Given the description of an element on the screen output the (x, y) to click on. 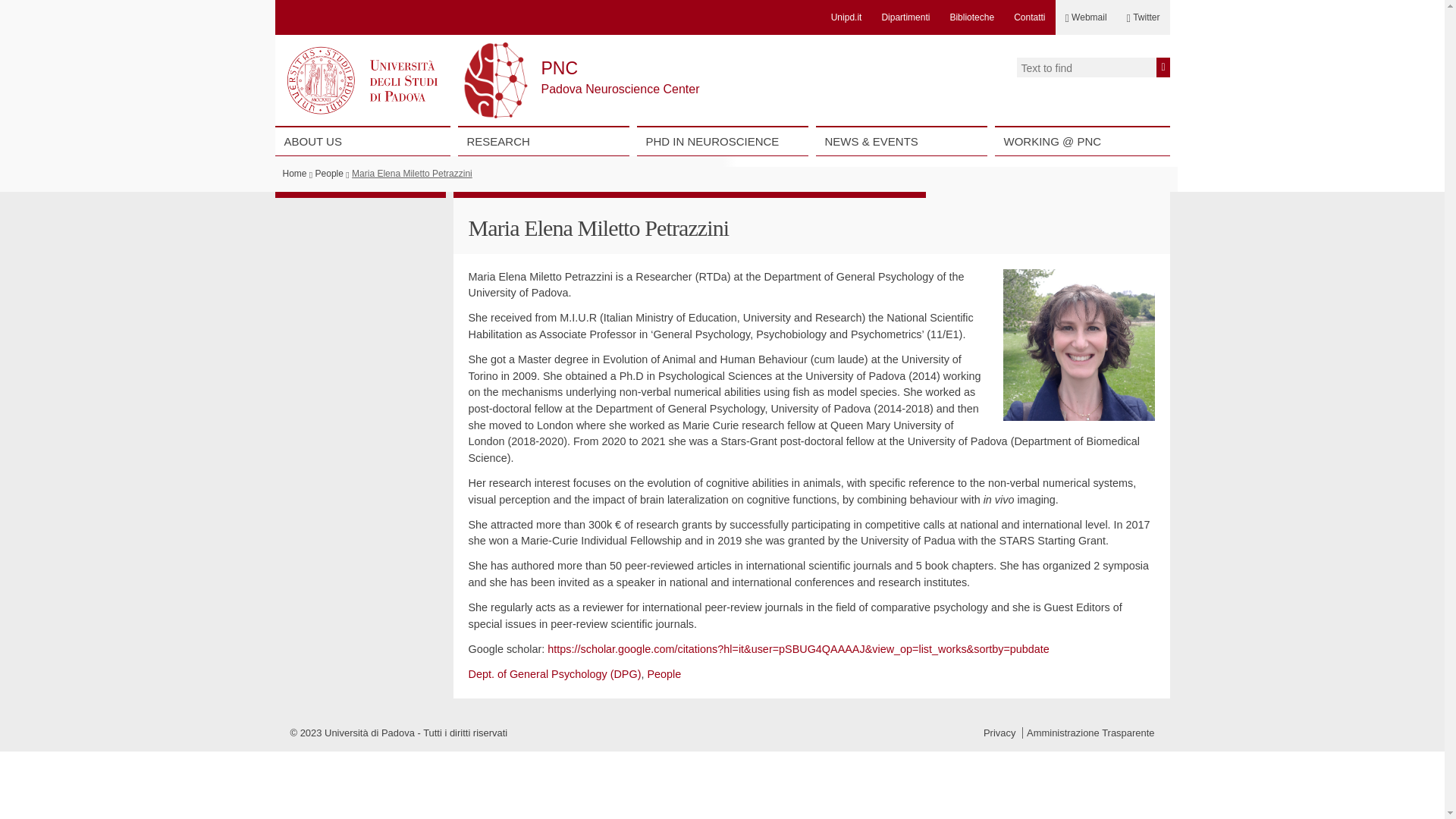
PHD IN NEUROSCIENCE (722, 141)
Dipartimenti (904, 17)
ABOUT US (362, 141)
Skip to content (283, 130)
PNC (559, 67)
Webmail (1085, 17)
Contatti (1029, 17)
PNC Home (559, 67)
Unipd.it (846, 17)
RESEARCH (543, 141)
